Given the description of an element on the screen output the (x, y) to click on. 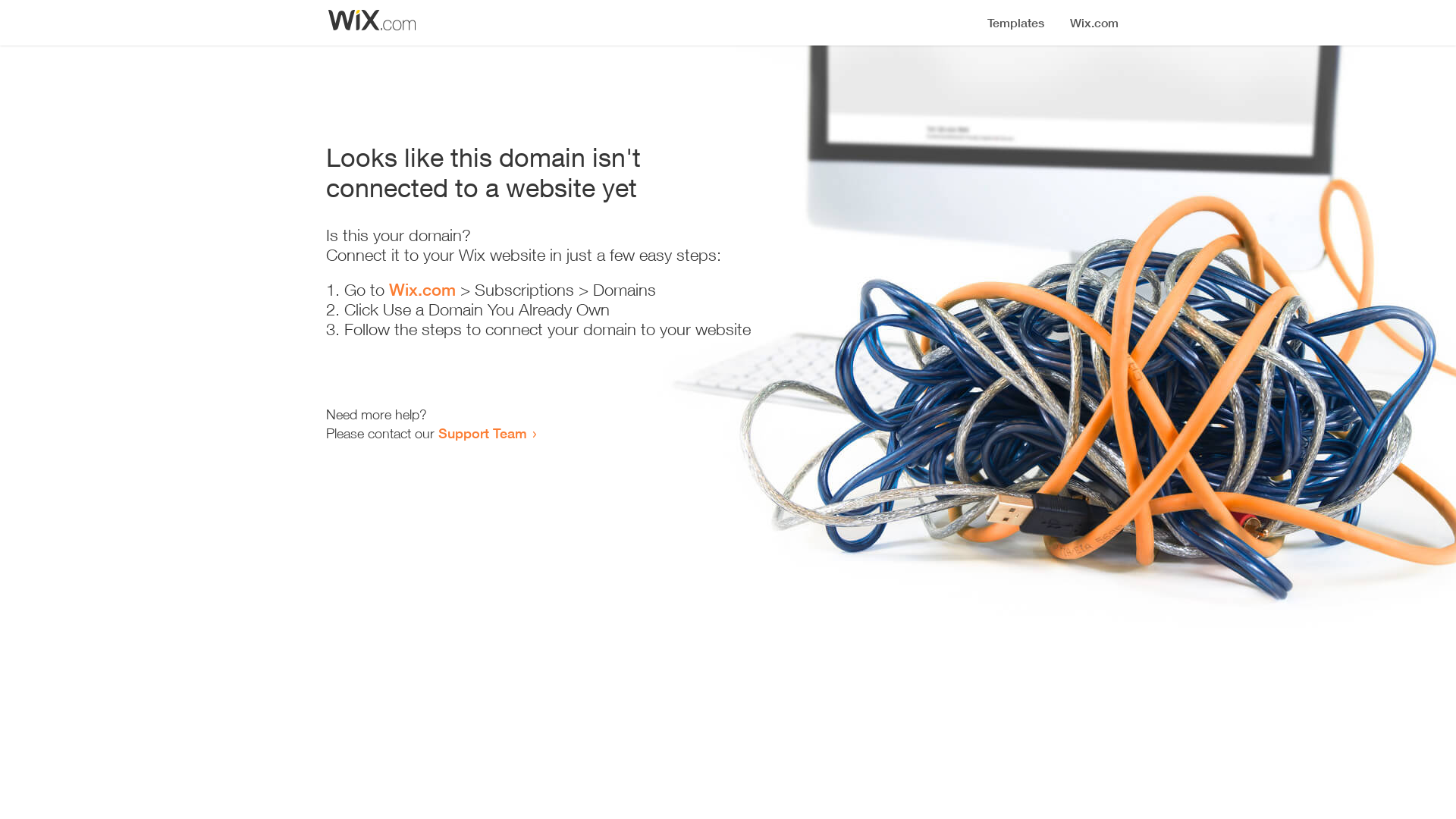
Wix.com Element type: text (422, 289)
Support Team Element type: text (482, 432)
